Given the description of an element on the screen output the (x, y) to click on. 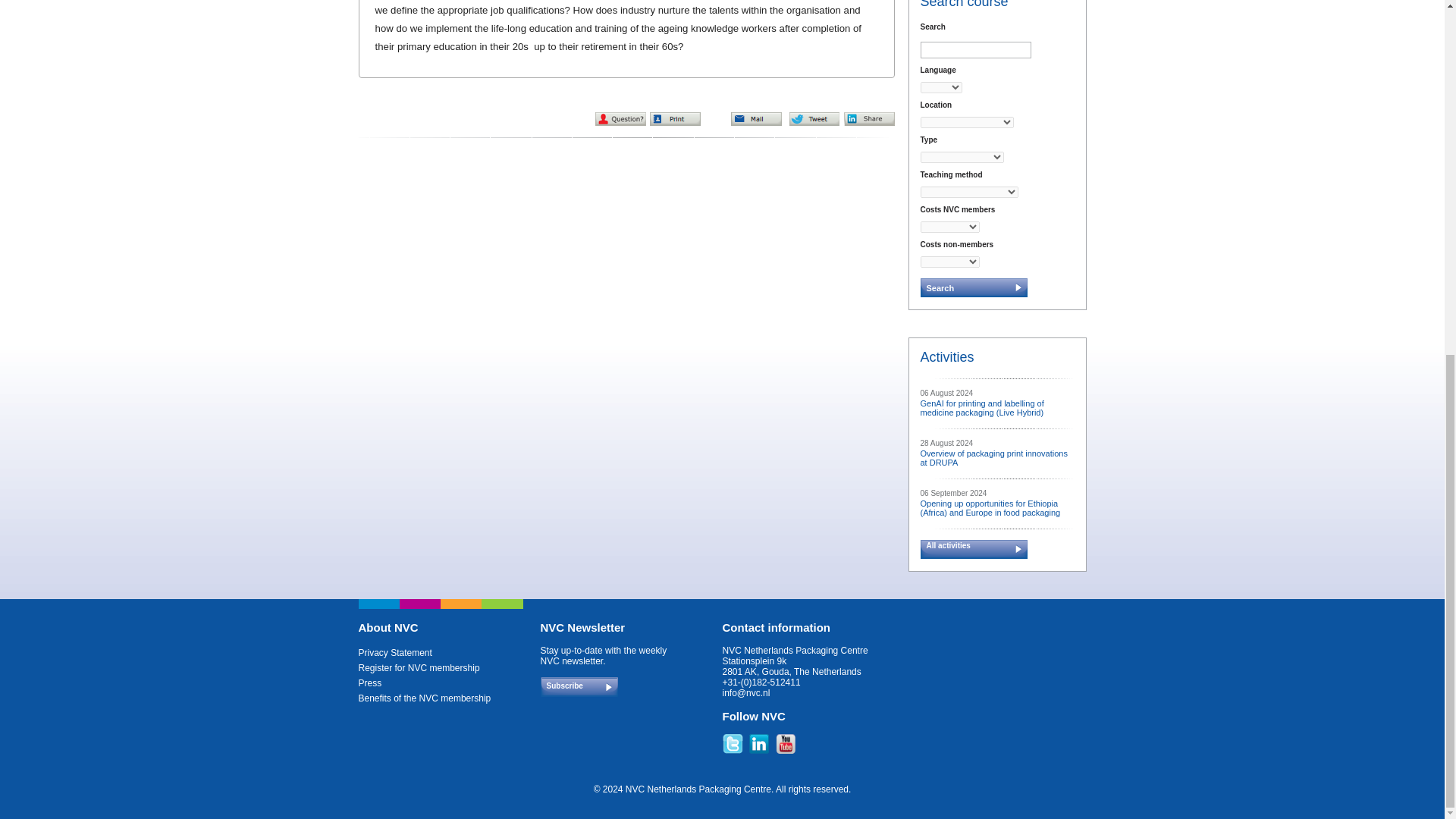
Search (973, 288)
All activities (976, 550)
Search (973, 288)
Overview of packaging print innovations at DRUPA (993, 457)
